Given the description of an element on the screen output the (x, y) to click on. 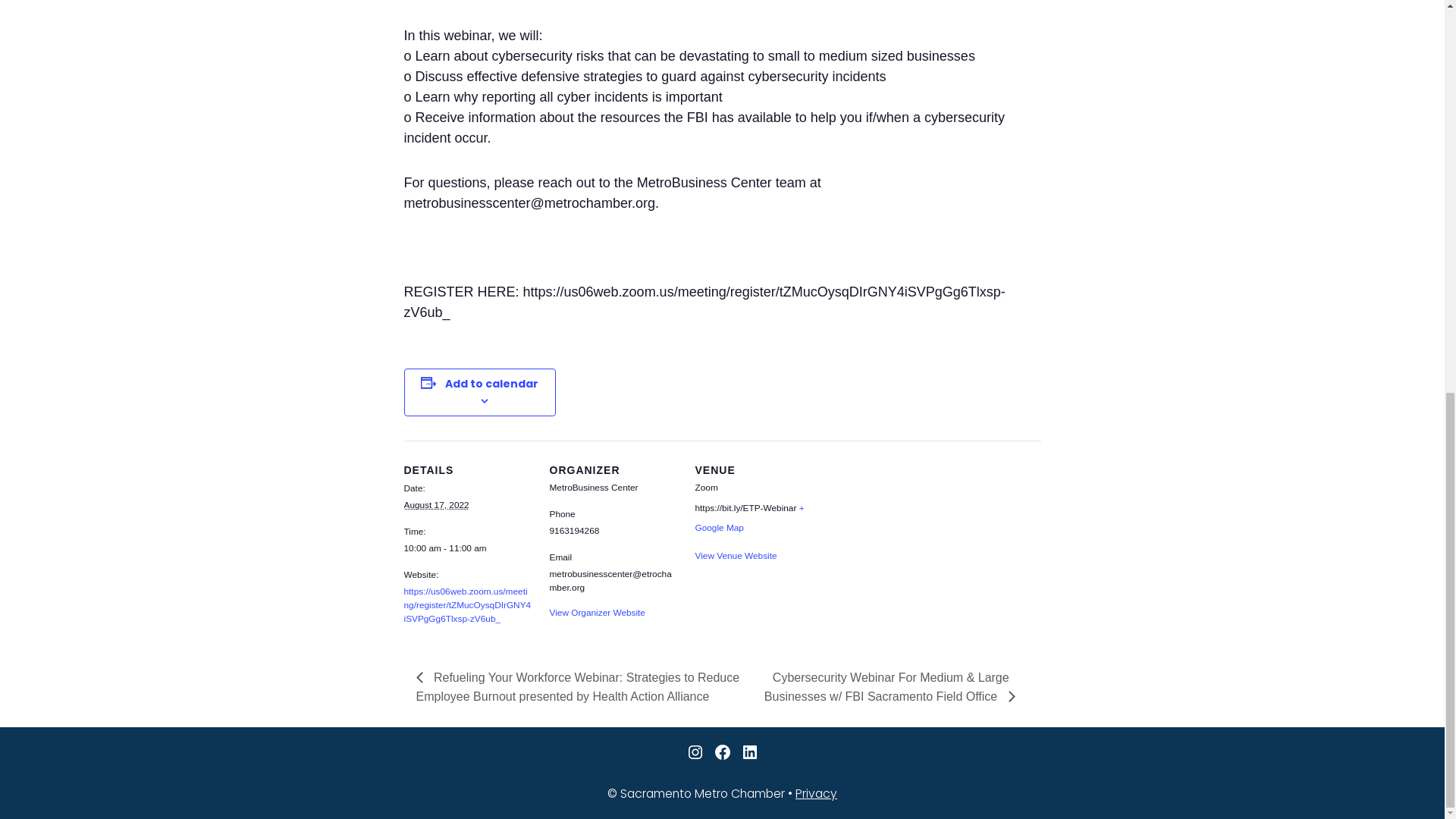
Facebook profile (721, 751)
Click to view a Google Map (748, 517)
View Venue Website (735, 555)
Privacy (815, 793)
Instagram profile (694, 751)
2022-08-17 (467, 549)
2022-08-17 (435, 504)
Add to calendar (491, 383)
LinkedIn profile (748, 751)
View Organizer Website (596, 612)
